Given the description of an element on the screen output the (x, y) to click on. 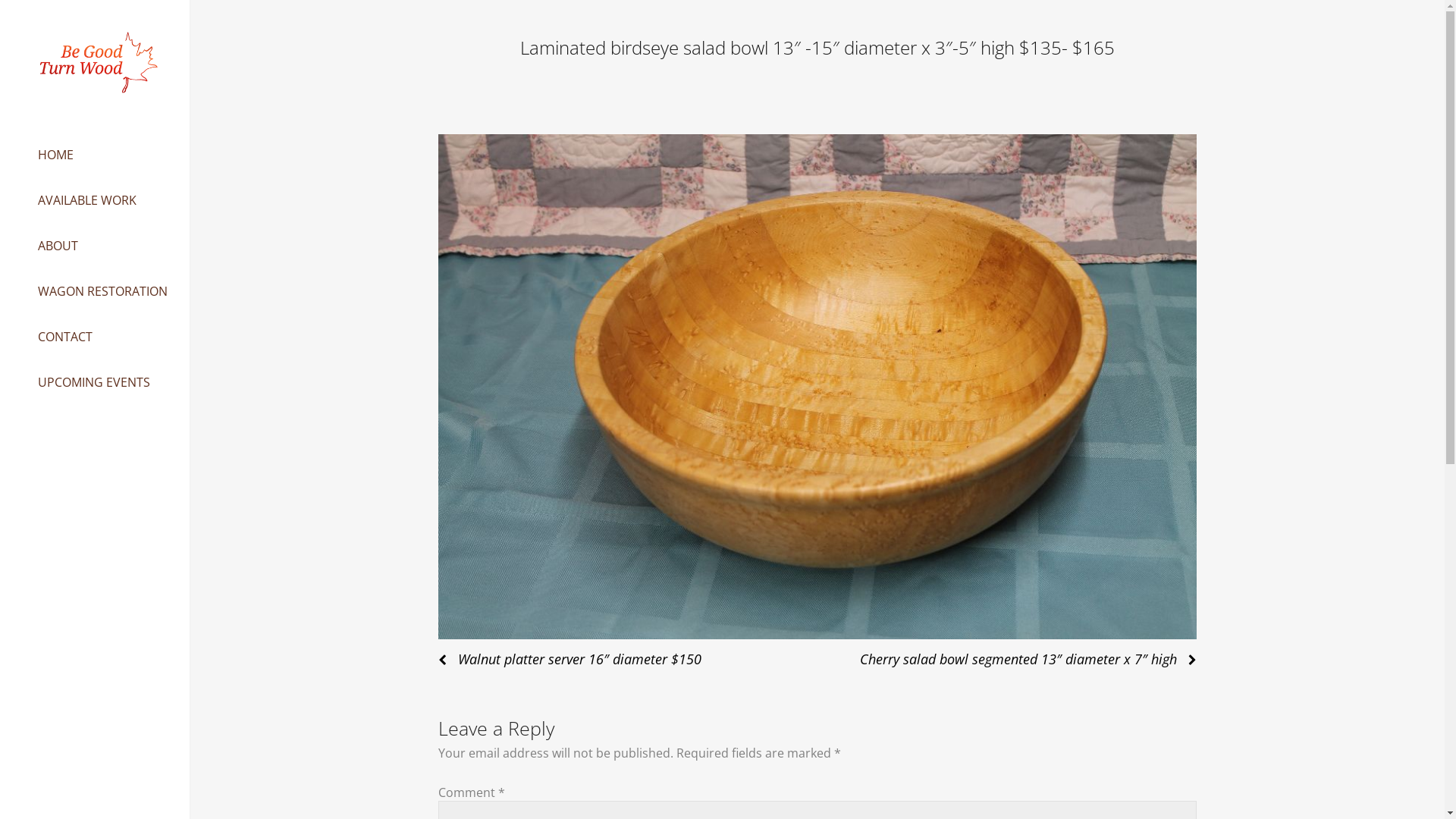
ABOUT Element type: text (58, 245)
AVAILABLE WORK Element type: text (87, 200)
UPCOMING EVENTS Element type: text (94, 382)
HOME Element type: text (55, 154)
WAGON RESTORATION Element type: text (102, 291)
CONTACT Element type: text (65, 336)
